Given the description of an element on the screen output the (x, y) to click on. 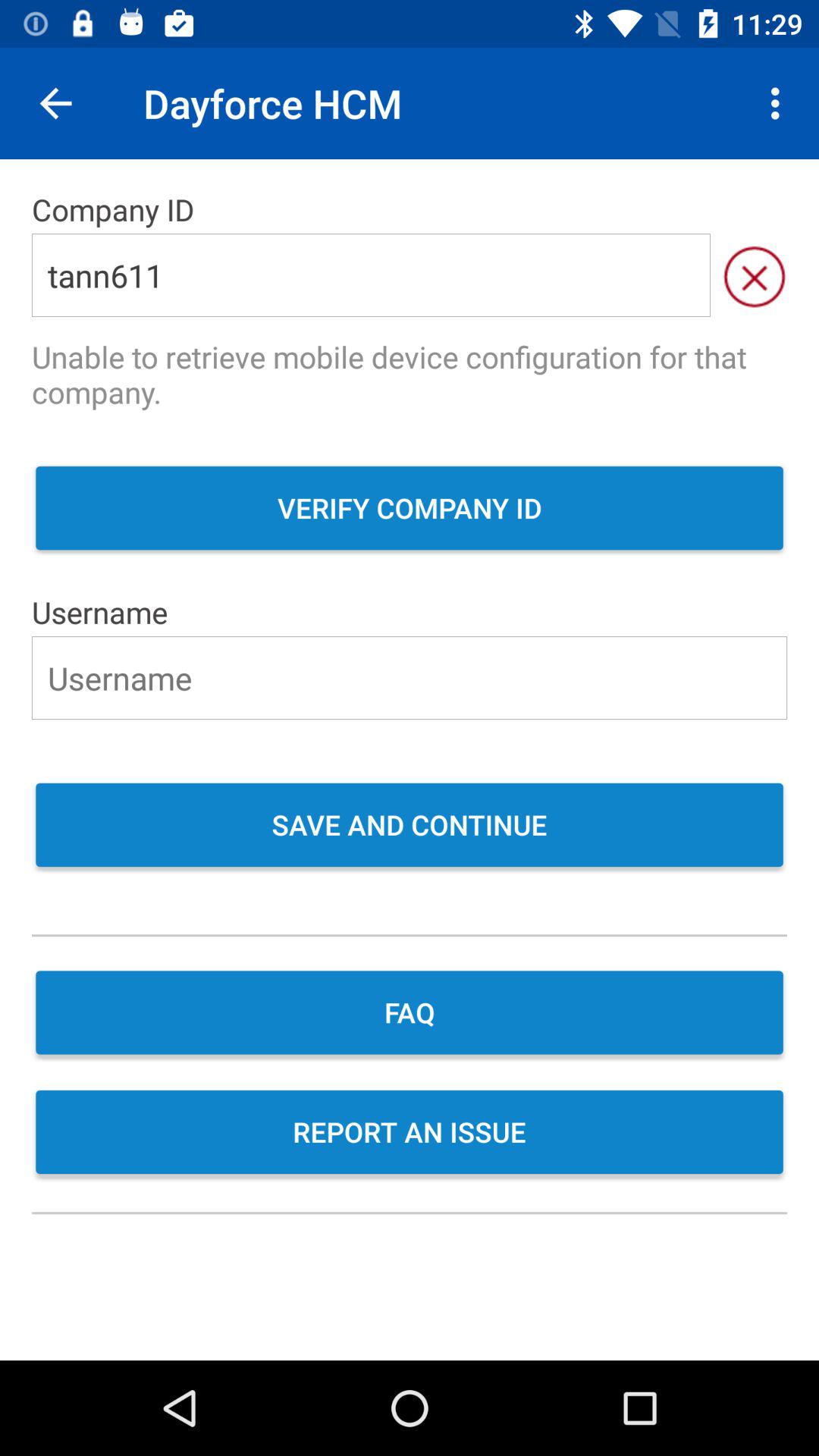
turn off save and continue item (409, 826)
